Given the description of an element on the screen output the (x, y) to click on. 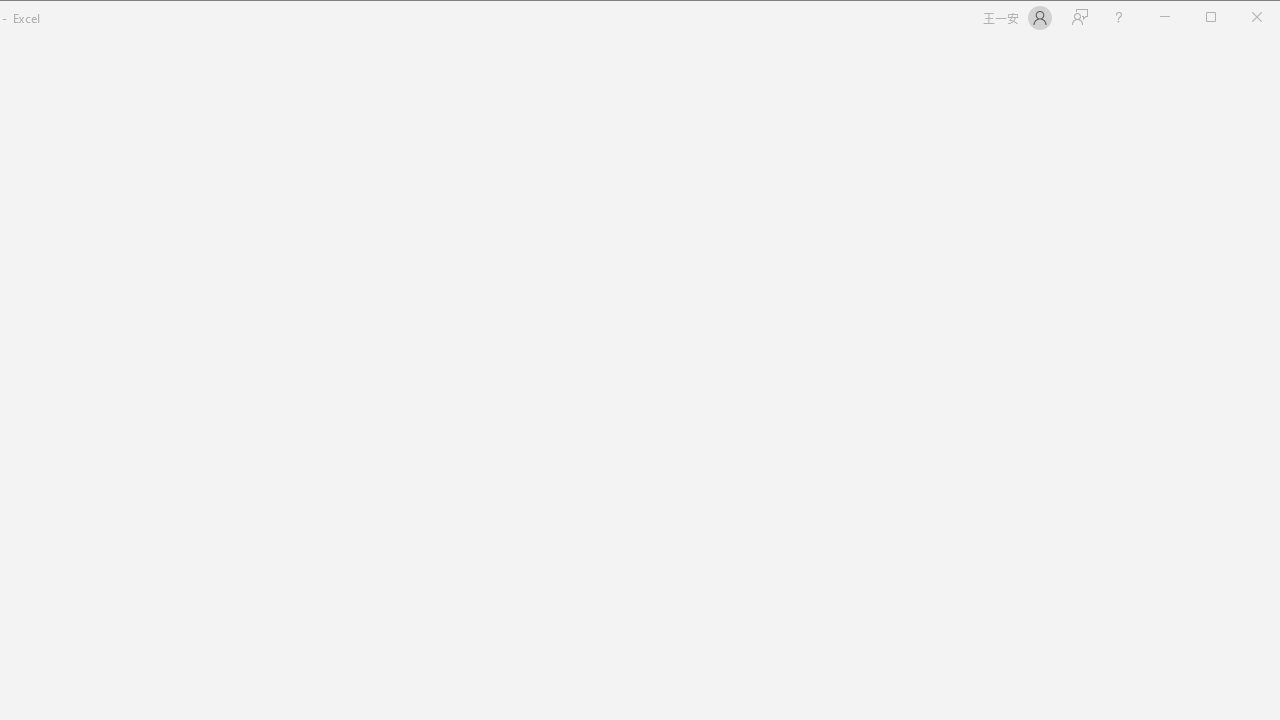
Maximize (1239, 18)
